Given the description of an element on the screen output the (x, y) to click on. 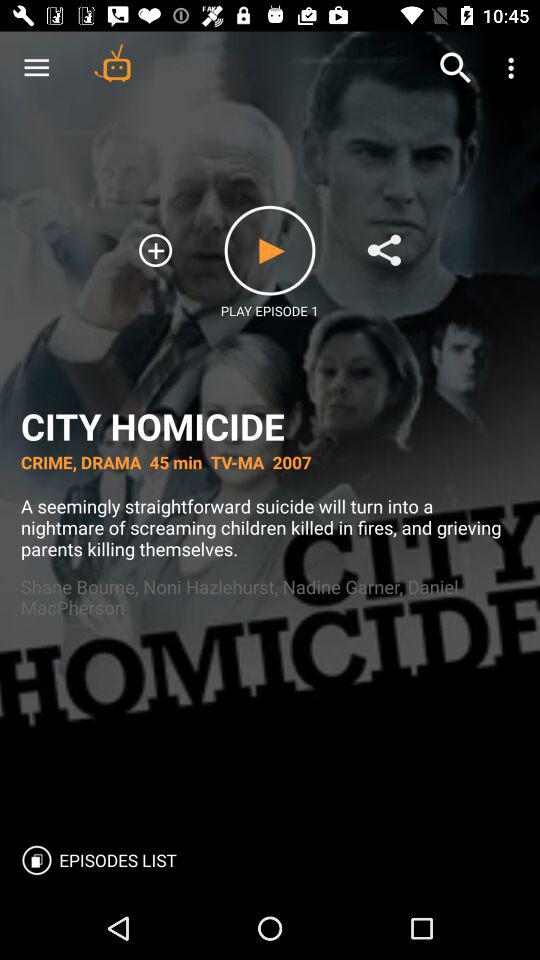
shows the add option (155, 250)
